Given the description of an element on the screen output the (x, y) to click on. 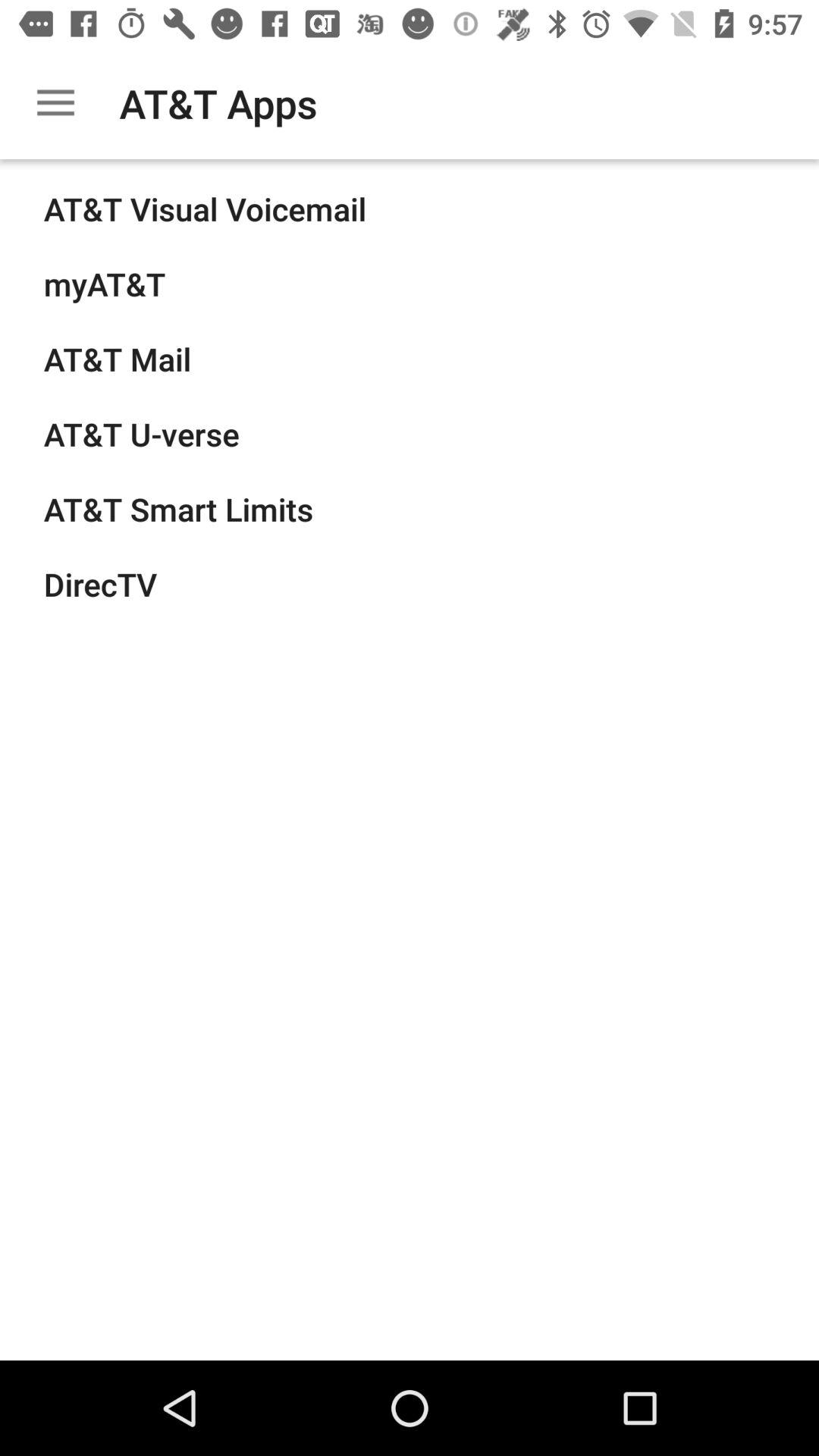
click the item to the left of at&t apps (55, 103)
